Given the description of an element on the screen output the (x, y) to click on. 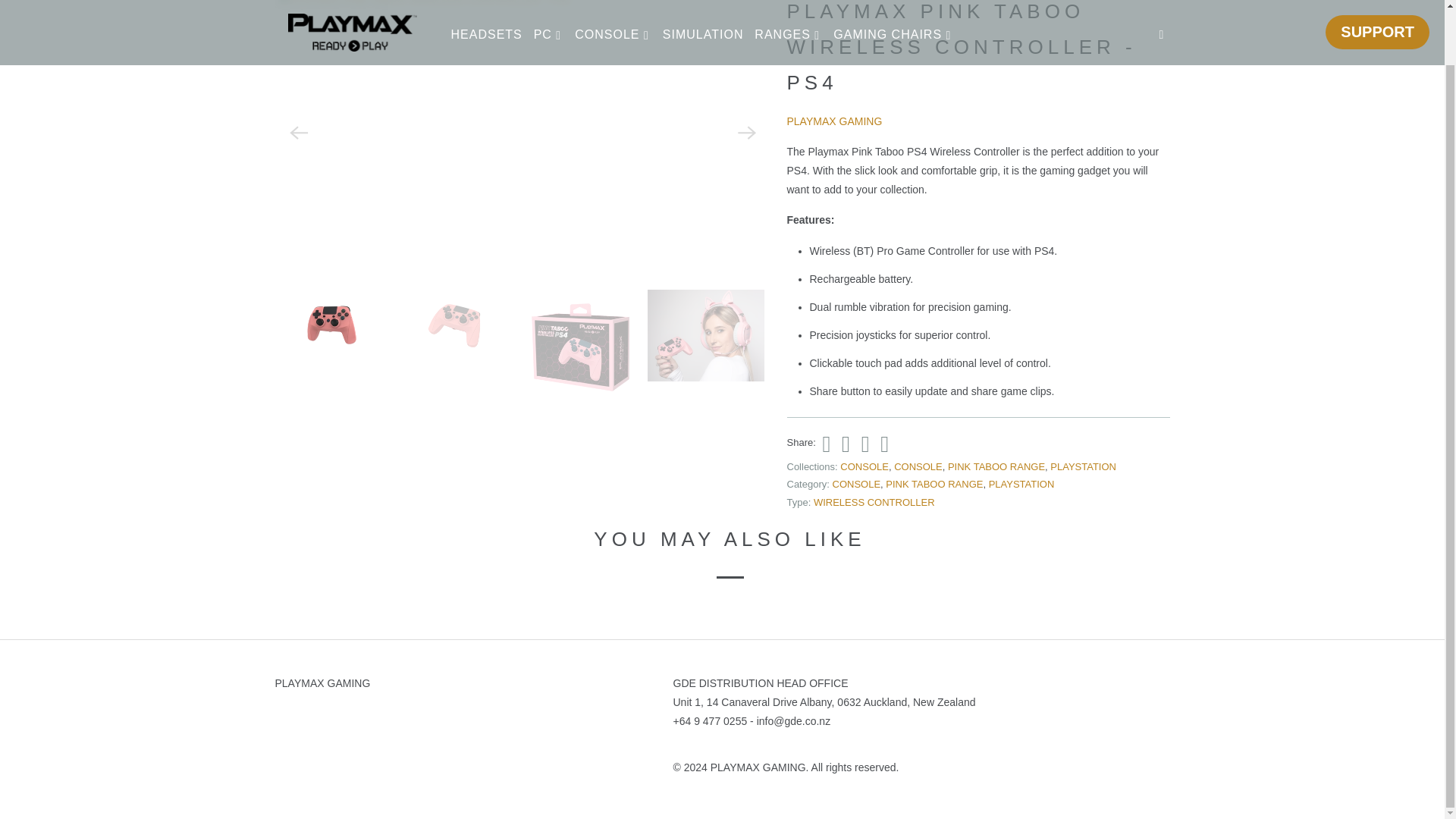
PLAYSTATION (1082, 466)
CONSOLE (917, 466)
PLAYMAX PINK TABOO WIRELESS CONTROLLER - PS4 (523, 4)
PLAYMAX GAMING (352, 2)
PLAYMAX GAMING (834, 121)
PINK TABOO RANGE (996, 466)
Products tagged CONSOLE (856, 483)
CONSOLE (864, 466)
